Given the description of an element on the screen output the (x, y) to click on. 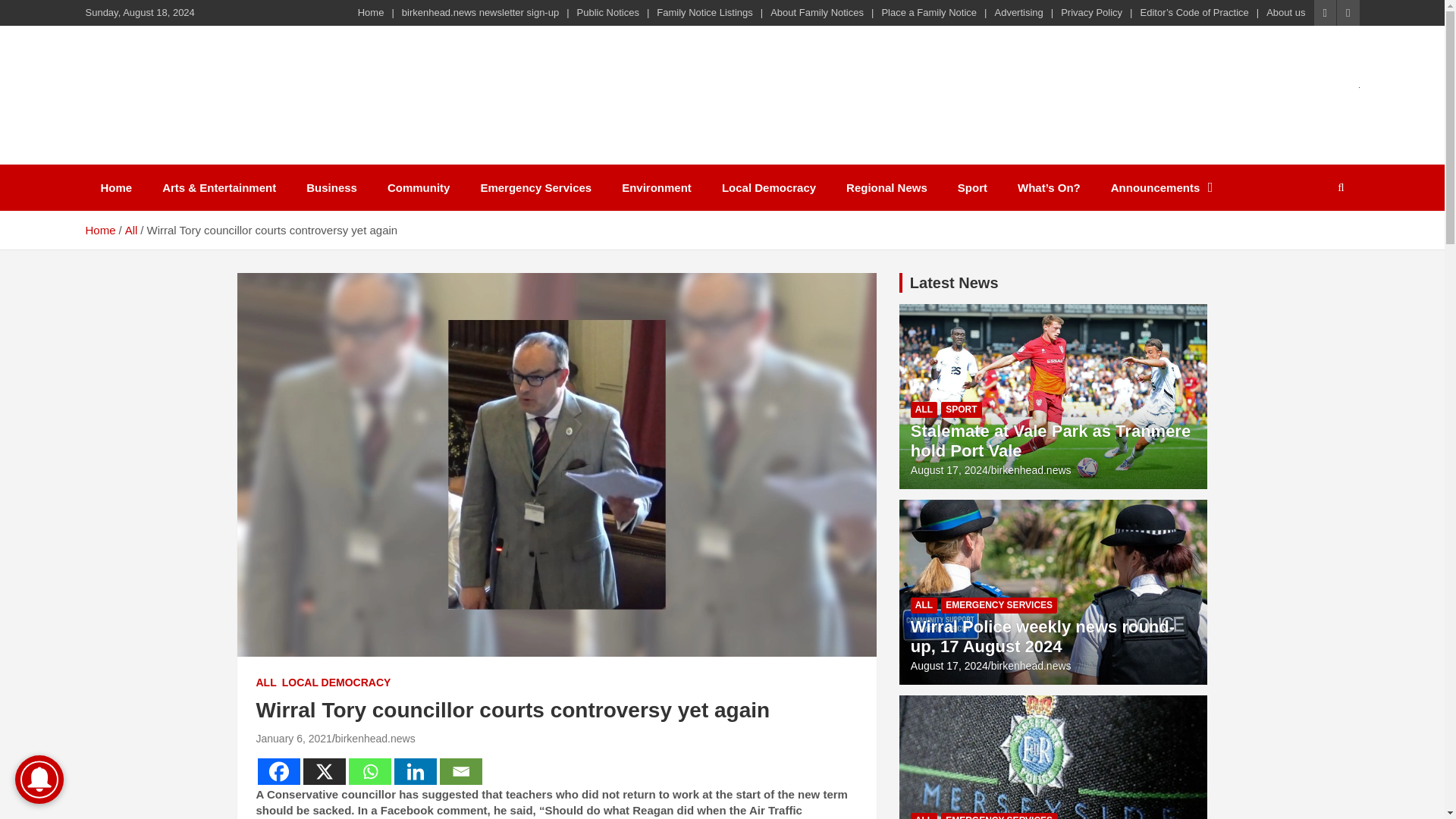
Local Democracy (768, 187)
About Family Notices (816, 12)
Emergency Services (535, 187)
Regional News (886, 187)
birkenhead.news newsletter sign-up (480, 12)
Email (460, 771)
Linkedin (415, 771)
birkenhead.news (374, 738)
ALL (266, 683)
Sport (972, 187)
